Given the description of an element on the screen output the (x, y) to click on. 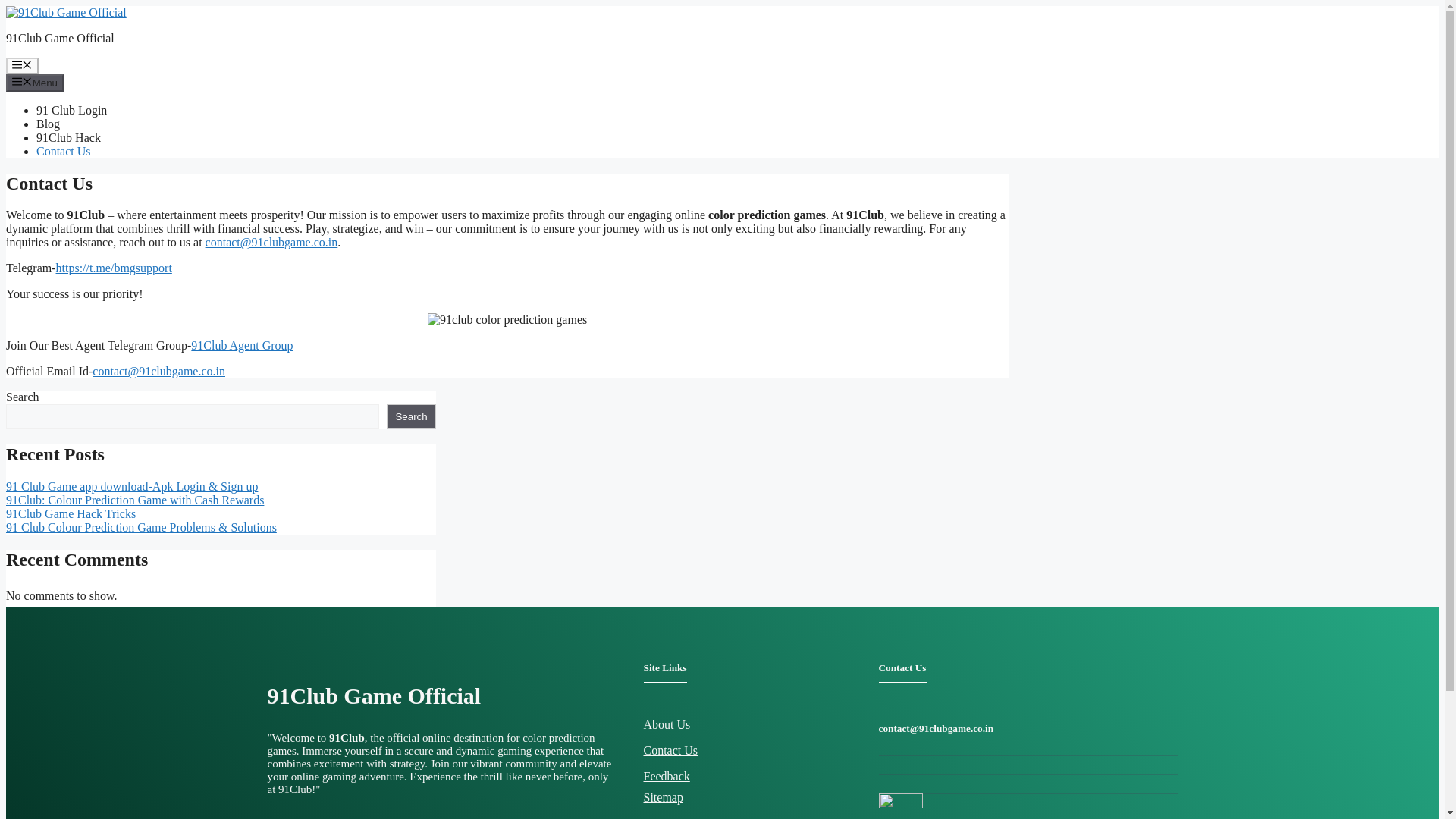
About Us (666, 724)
91Club Agent Group (241, 345)
91Club Hack (68, 137)
Search (411, 416)
Feedback (665, 775)
Menu (22, 65)
Contact Us (670, 749)
Sitemap (662, 797)
Menu (34, 82)
